Given the description of an element on the screen output the (x, y) to click on. 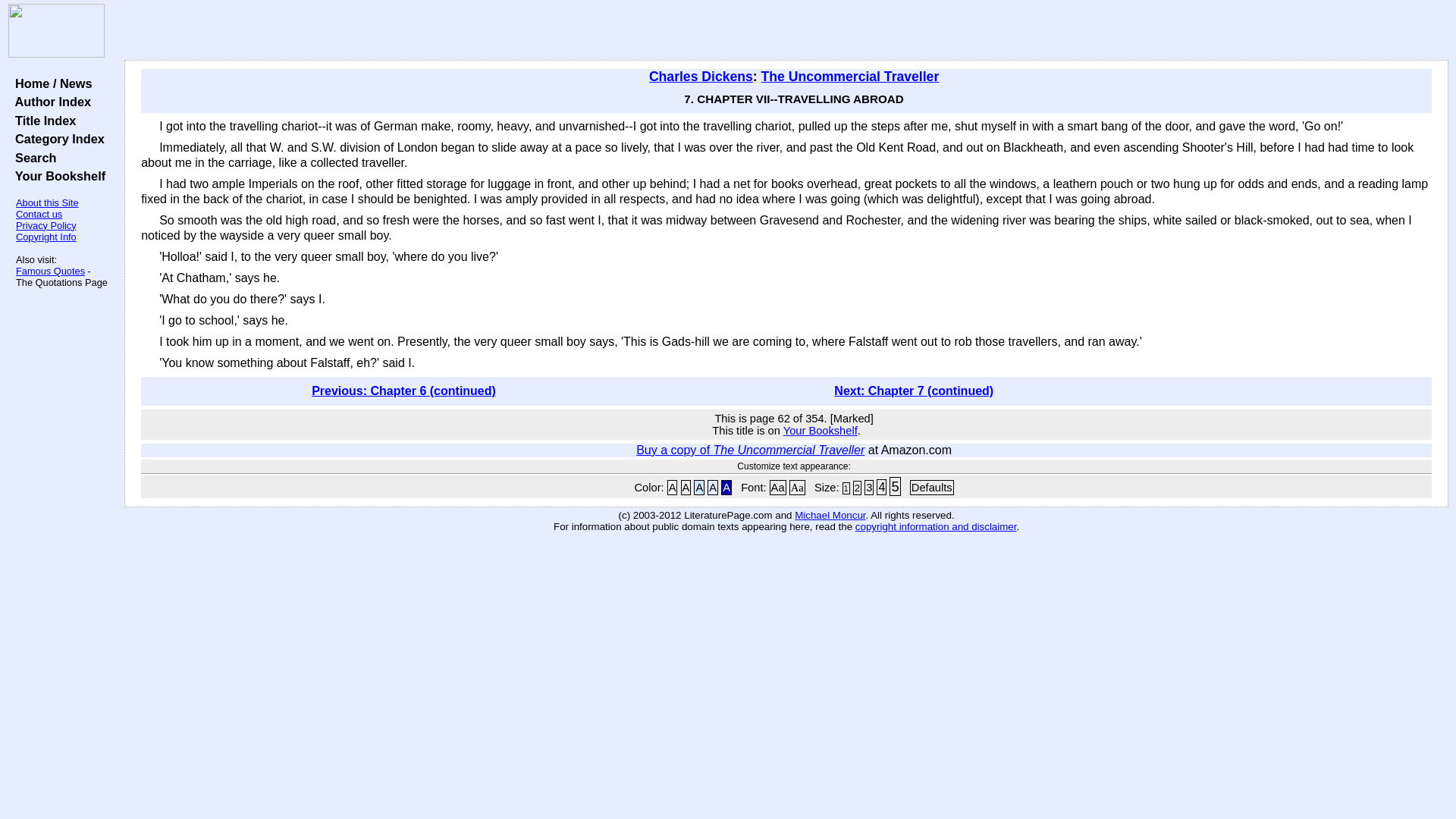
Aa (797, 487)
  Title Index (41, 120)
Contact us (39, 214)
  Category Index (56, 138)
copyright information and disclaimer (936, 526)
Michael Moncur (829, 514)
Serif (797, 487)
Aa (778, 487)
The Uncommercial Traveller (850, 76)
Privacy Policy (46, 225)
